Given the description of an element on the screen output the (x, y) to click on. 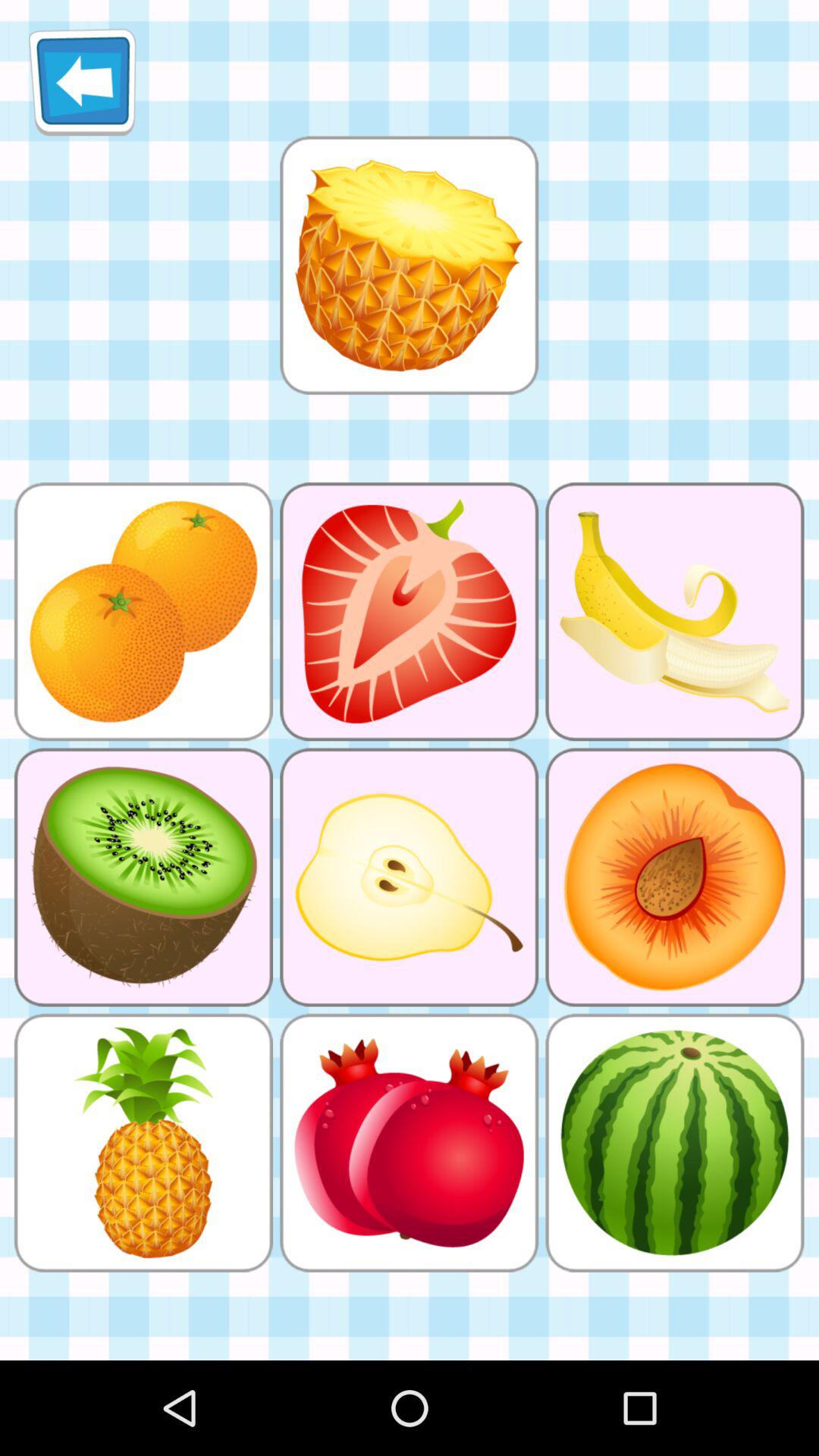
come back (82, 82)
